Given the description of an element on the screen output the (x, y) to click on. 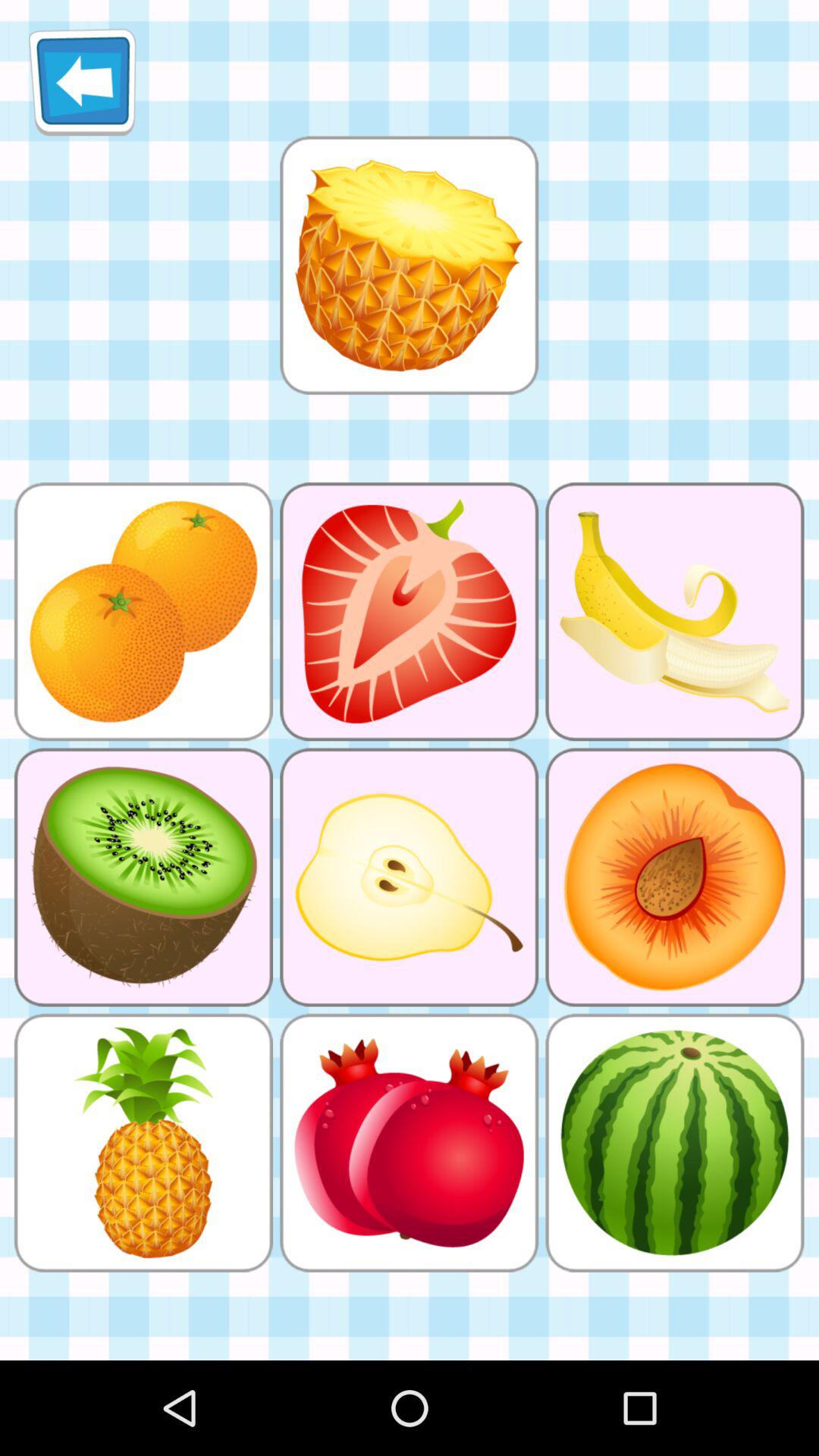
come back (82, 82)
